Given the description of an element on the screen output the (x, y) to click on. 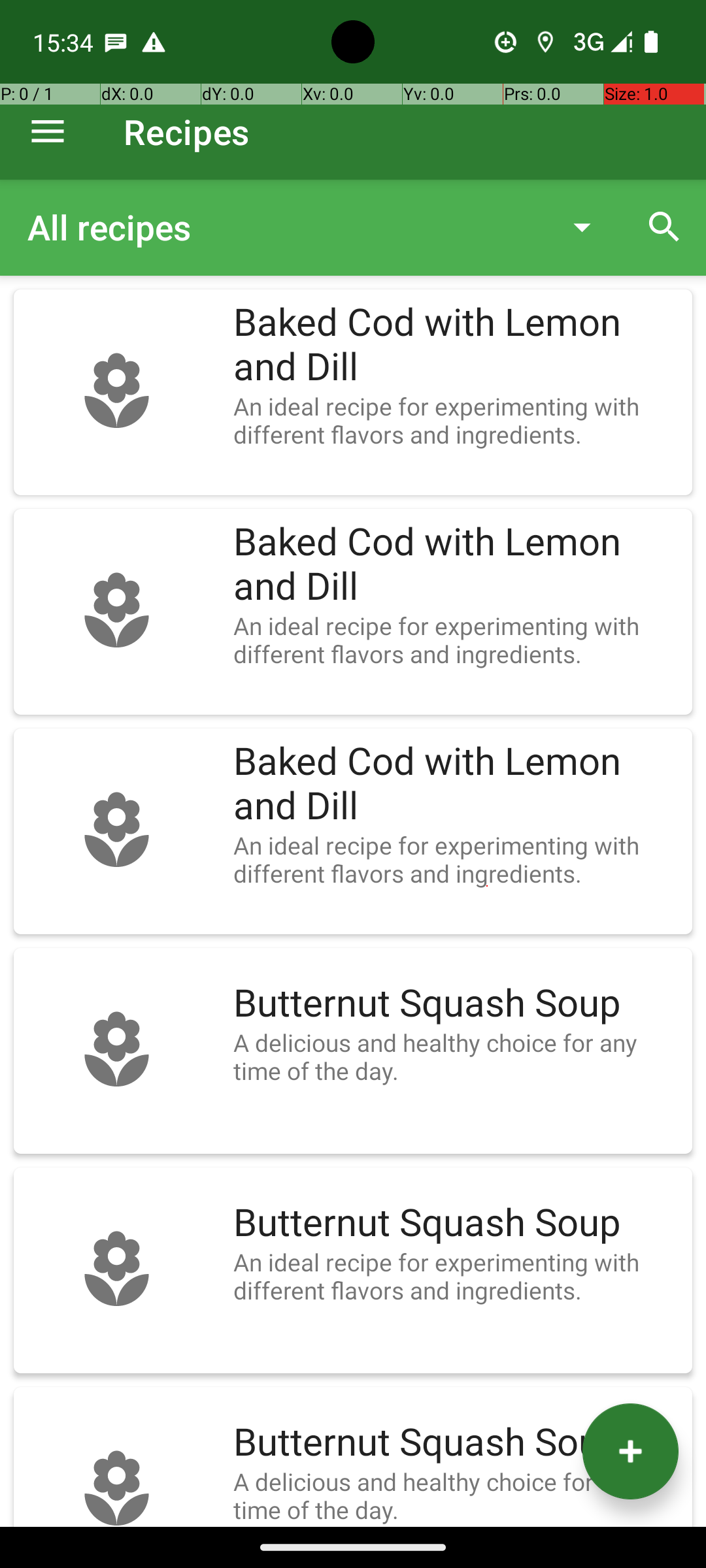
Baked Cod with Lemon and Dill Element type: android.widget.TextView (455, 344)
Butternut Squash Soup Element type: android.widget.TextView (455, 1003)
